Given the description of an element on the screen output the (x, y) to click on. 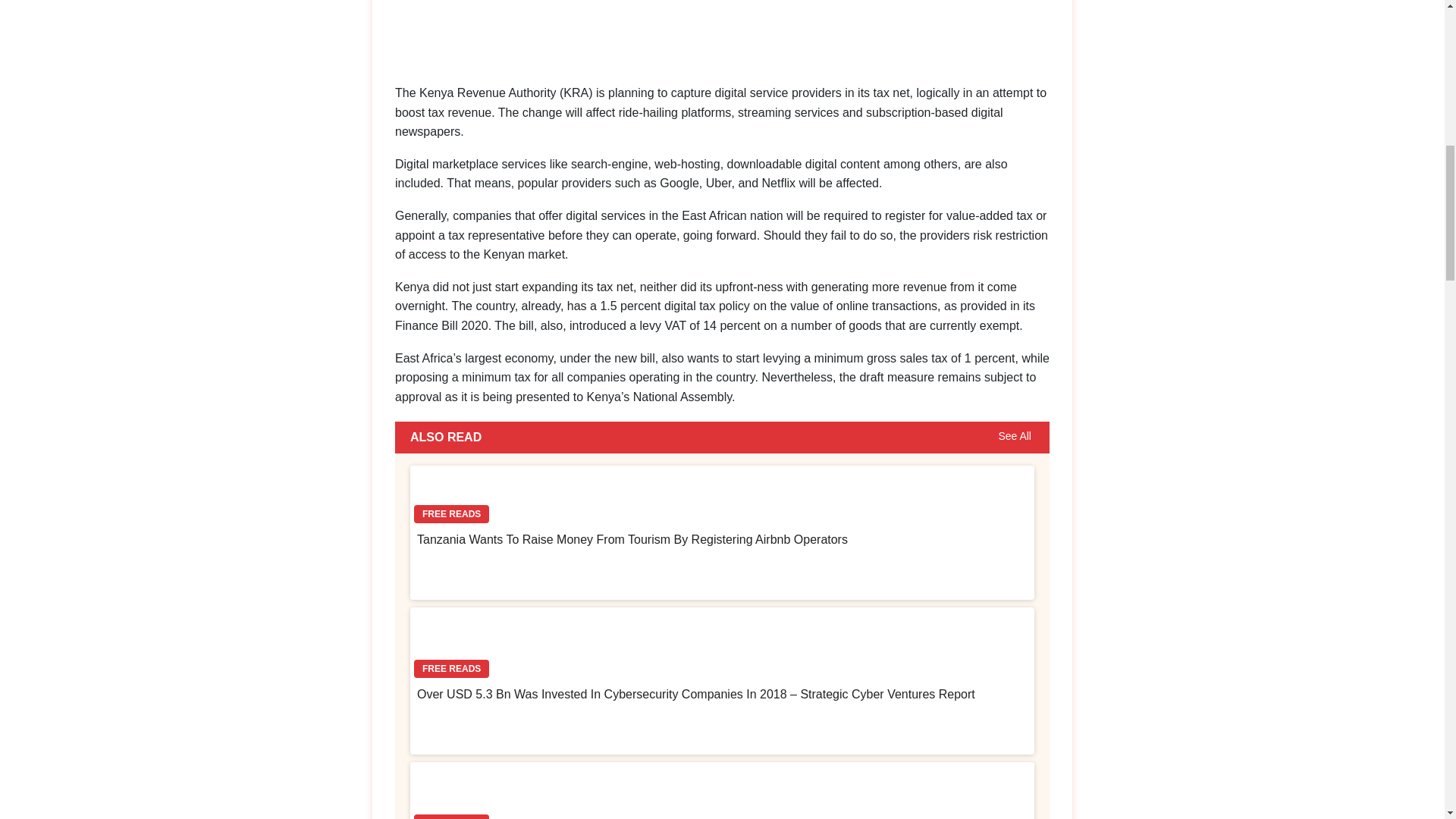
See All (1015, 437)
FREE READS (721, 790)
FREE READS (721, 497)
FREE READS (721, 645)
